Given the description of an element on the screen output the (x, y) to click on. 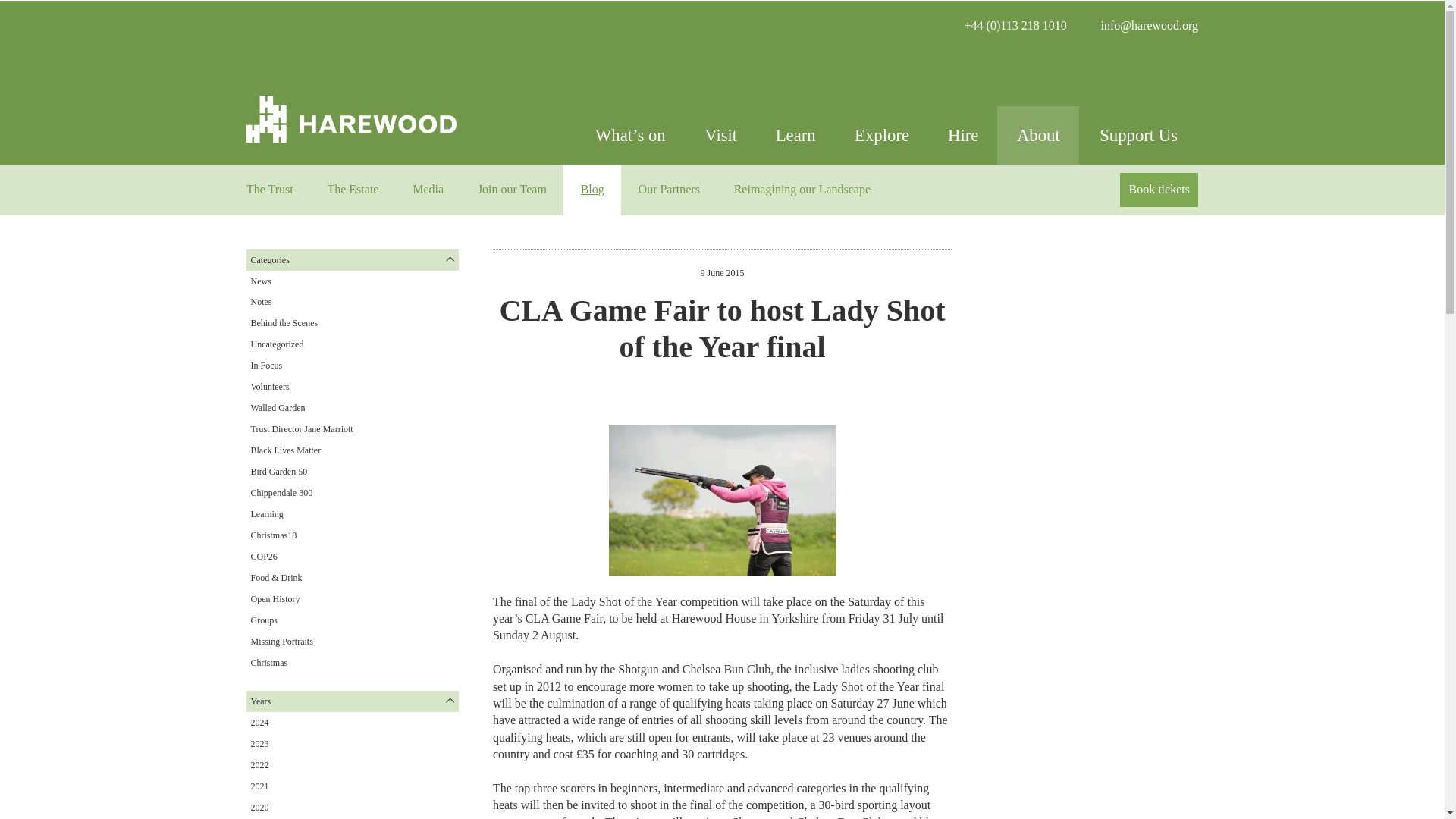
Notes (260, 301)
COP26 (263, 556)
Behind the Scenes (283, 322)
Walled Garden (277, 407)
Visit (720, 135)
The Estate (353, 189)
Trust Director Jane Marriott (301, 429)
Open History (274, 598)
Explore (881, 135)
Hire (962, 135)
Reimagining our Landscape (801, 189)
The Trust (269, 189)
Christmas18 (273, 534)
Chippendale 300 (281, 492)
Learning (266, 513)
